Given the description of an element on the screen output the (x, y) to click on. 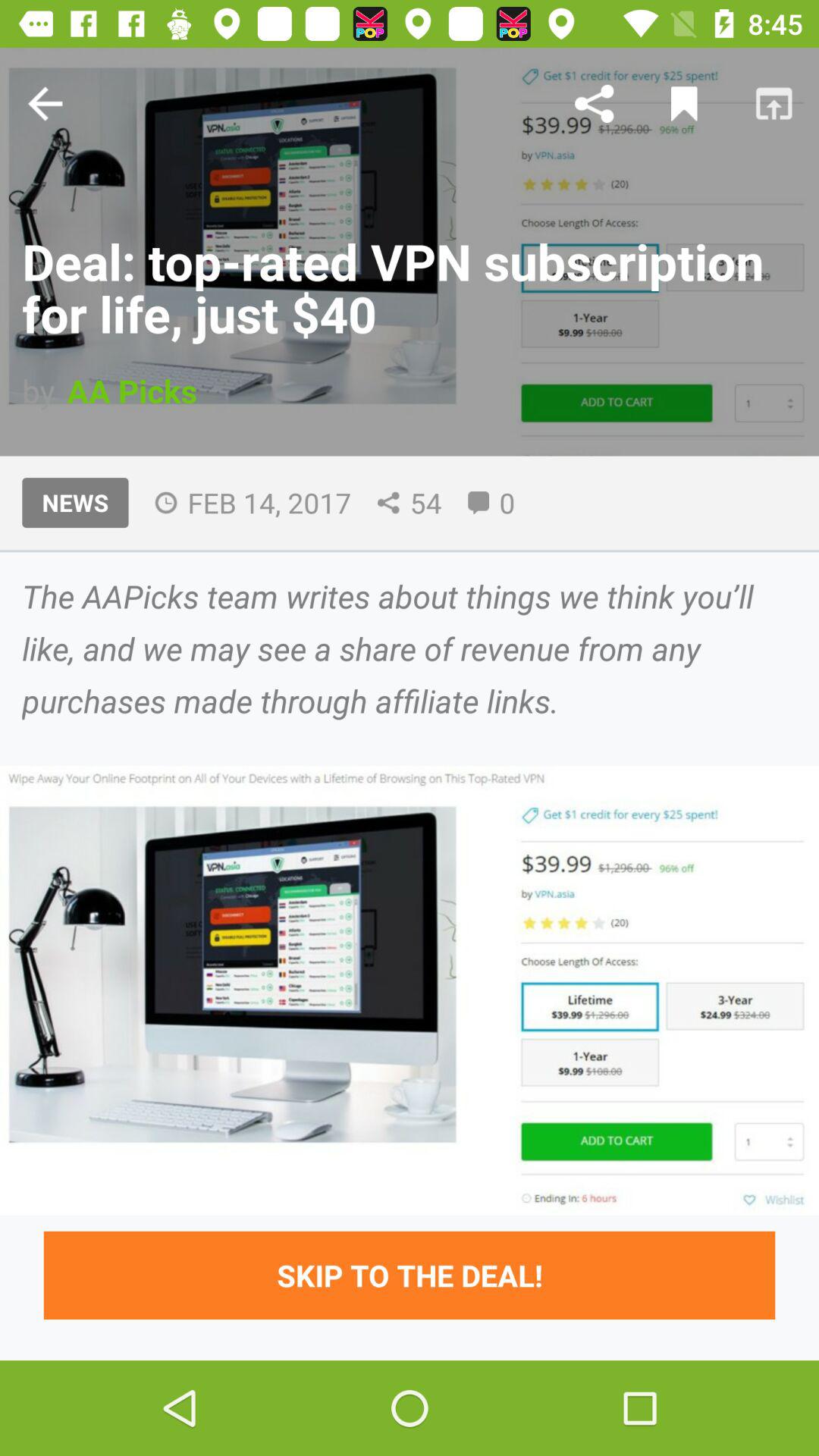
bookmark this deal (684, 103)
